Given the description of an element on the screen output the (x, y) to click on. 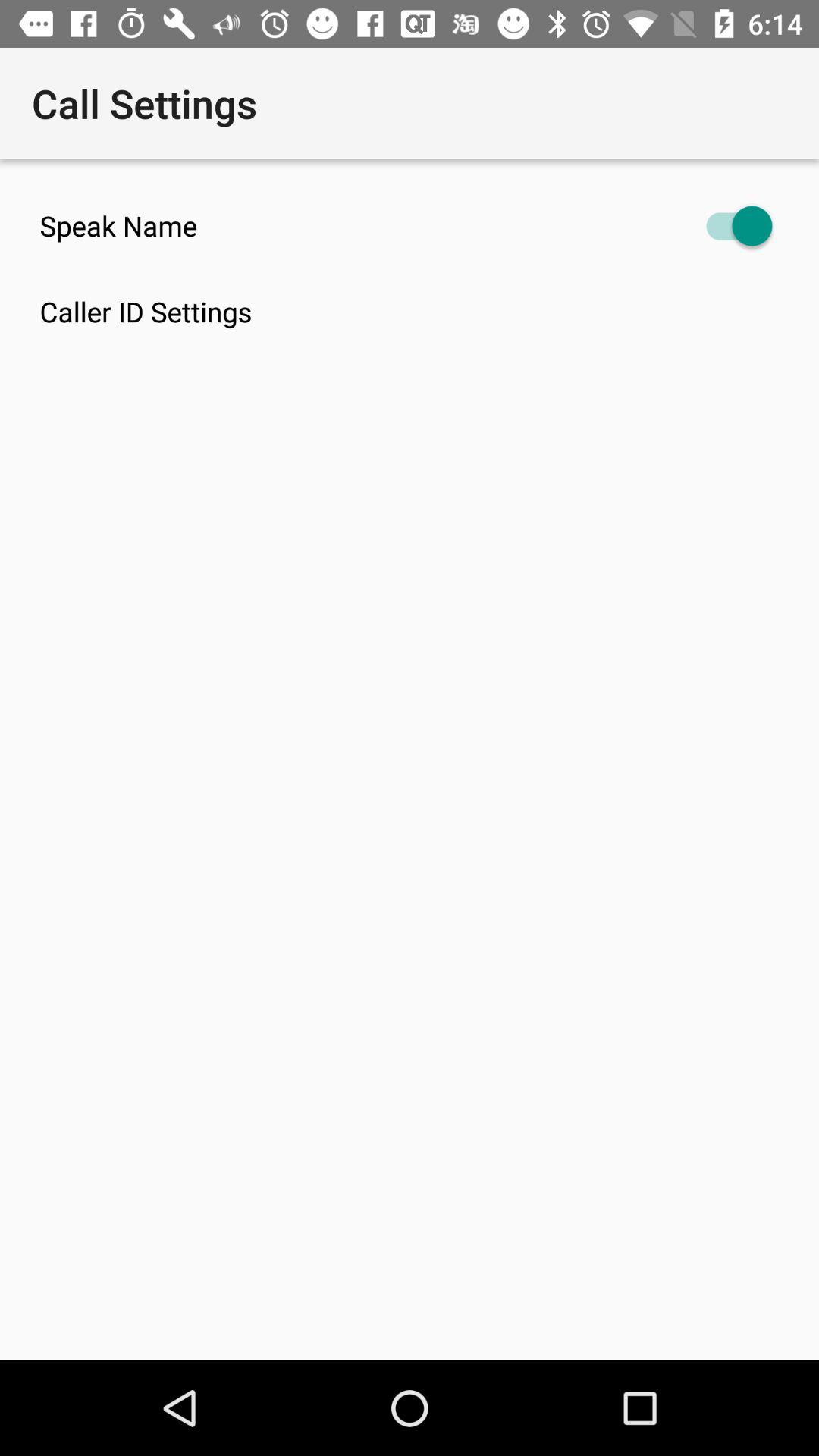
open caller id settings icon (429, 311)
